Given the description of an element on the screen output the (x, y) to click on. 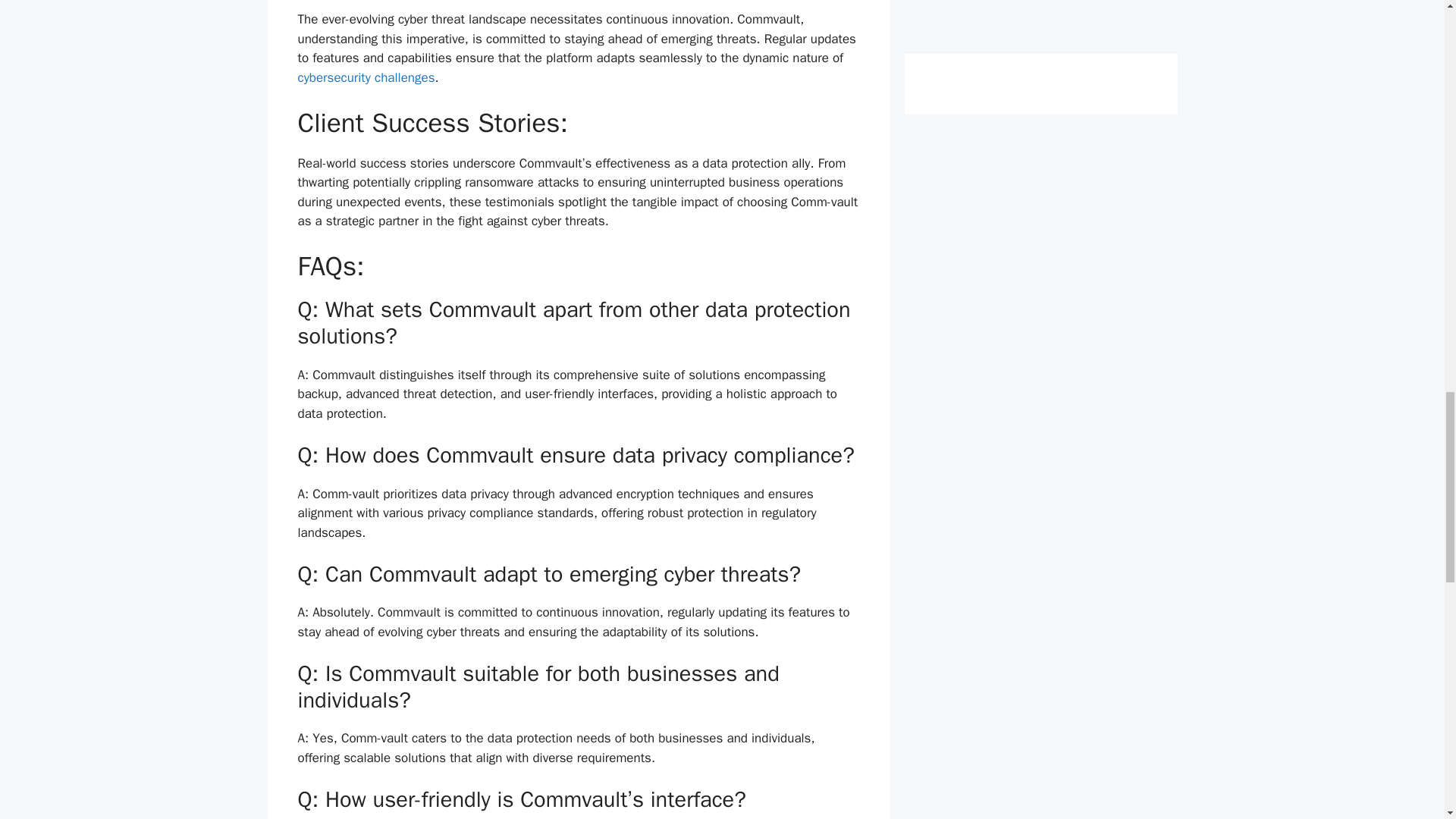
cybersecurity challenges (365, 77)
